Given the description of an element on the screen output the (x, y) to click on. 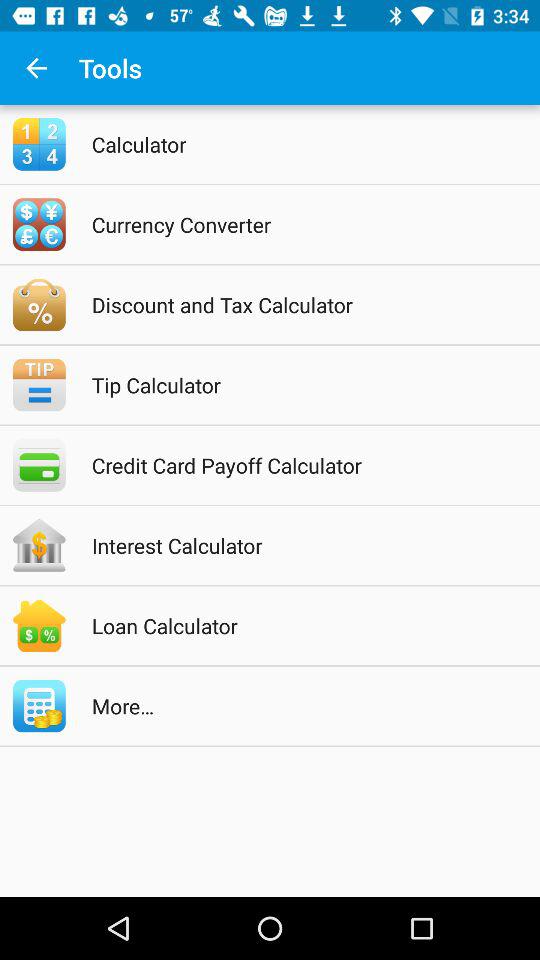
swipe until discount and tax (295, 304)
